Given the description of an element on the screen output the (x, y) to click on. 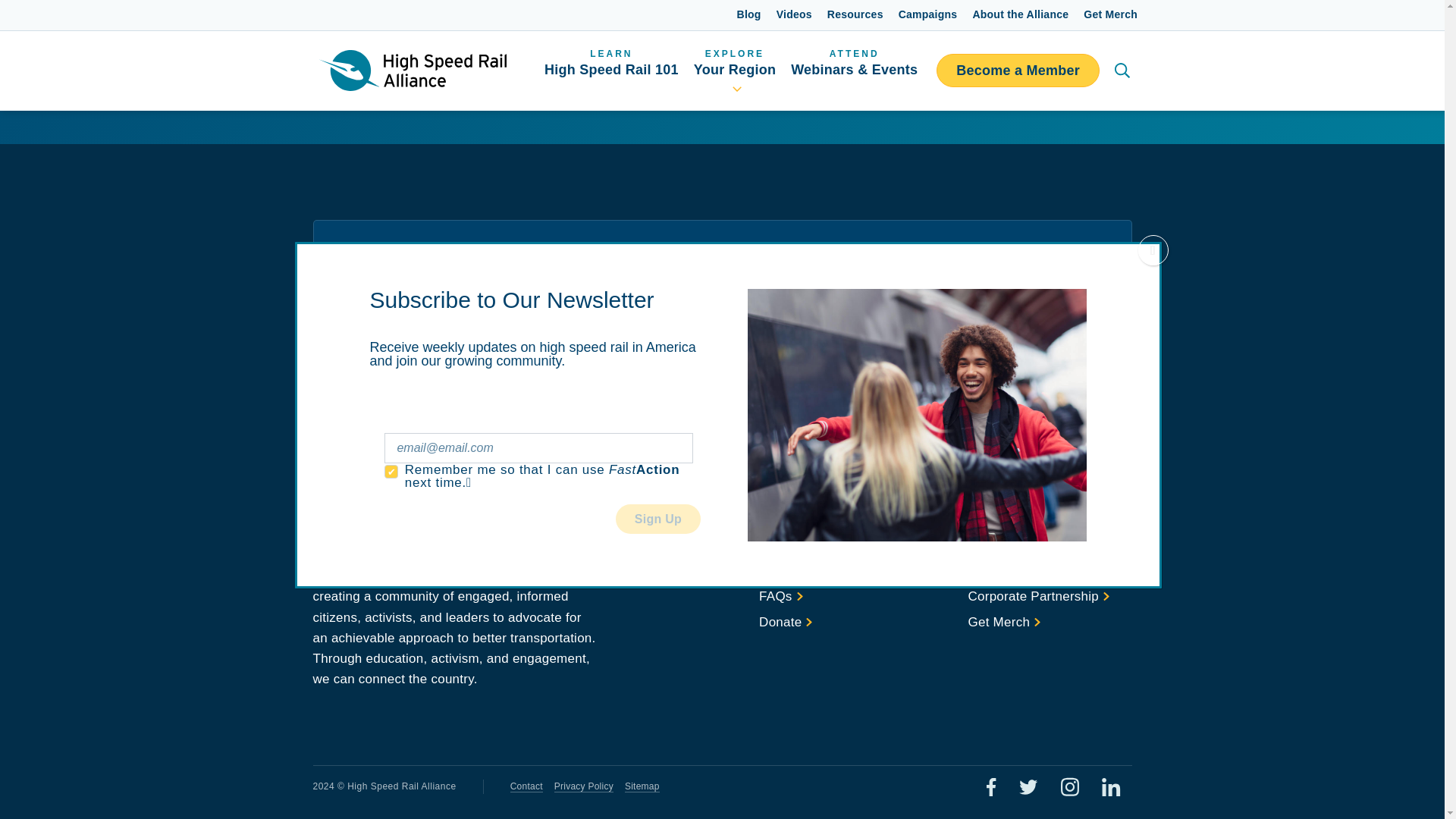
Sign Up (1022, 372)
